Given the description of an element on the screen output the (x, y) to click on. 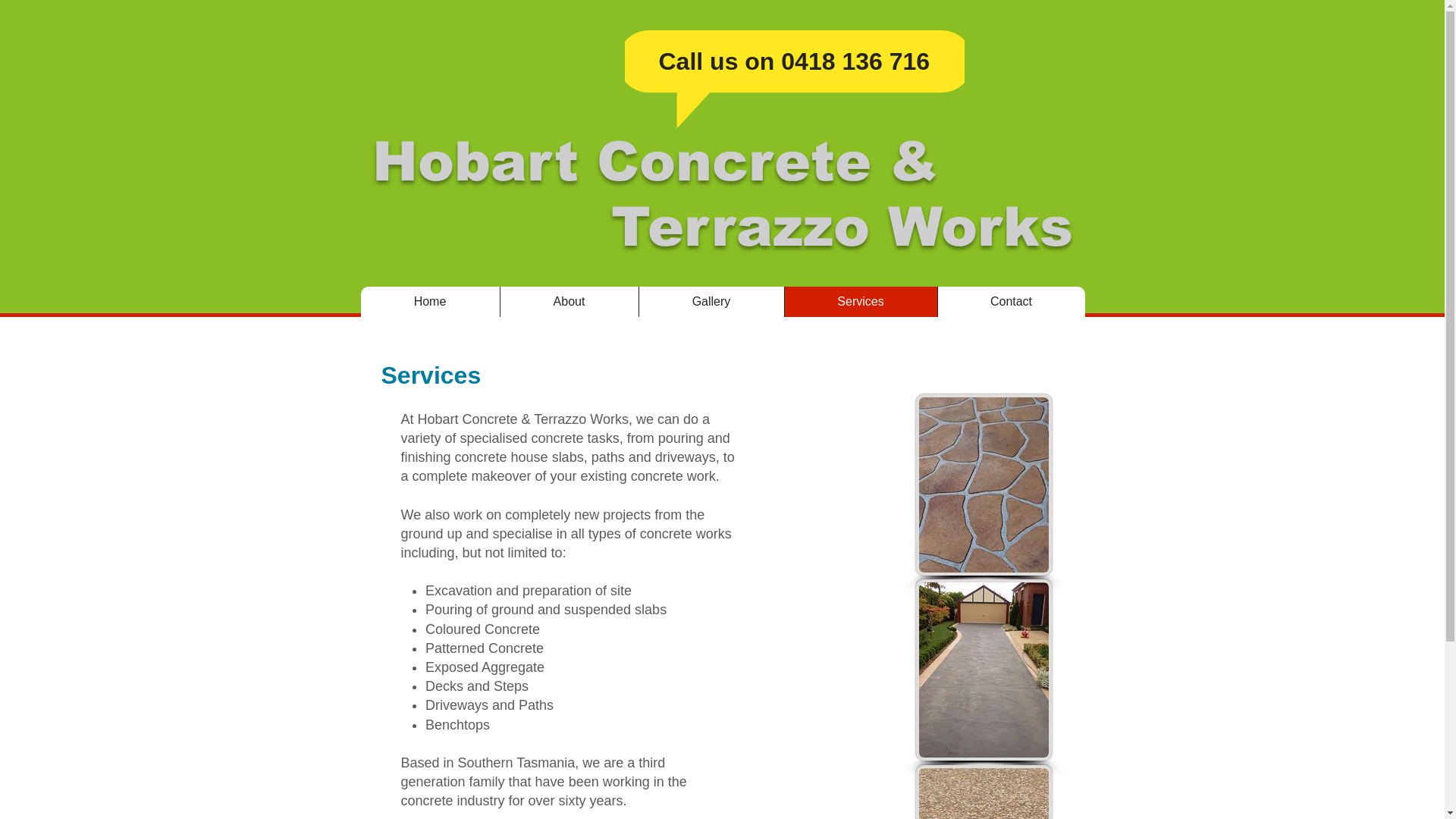
Hobart Concrete & Element type: text (654, 161)
Home Element type: text (429, 301)
Terrazzo Works Element type: text (842, 226)
Bush rock pattern with sandstone colour Element type: hover (983, 484)
Services Element type: text (860, 301)
Gallery Element type: text (711, 301)
Contact Element type: text (1011, 301)
About Element type: text (567, 301)
